Given the description of an element on the screen output the (x, y) to click on. 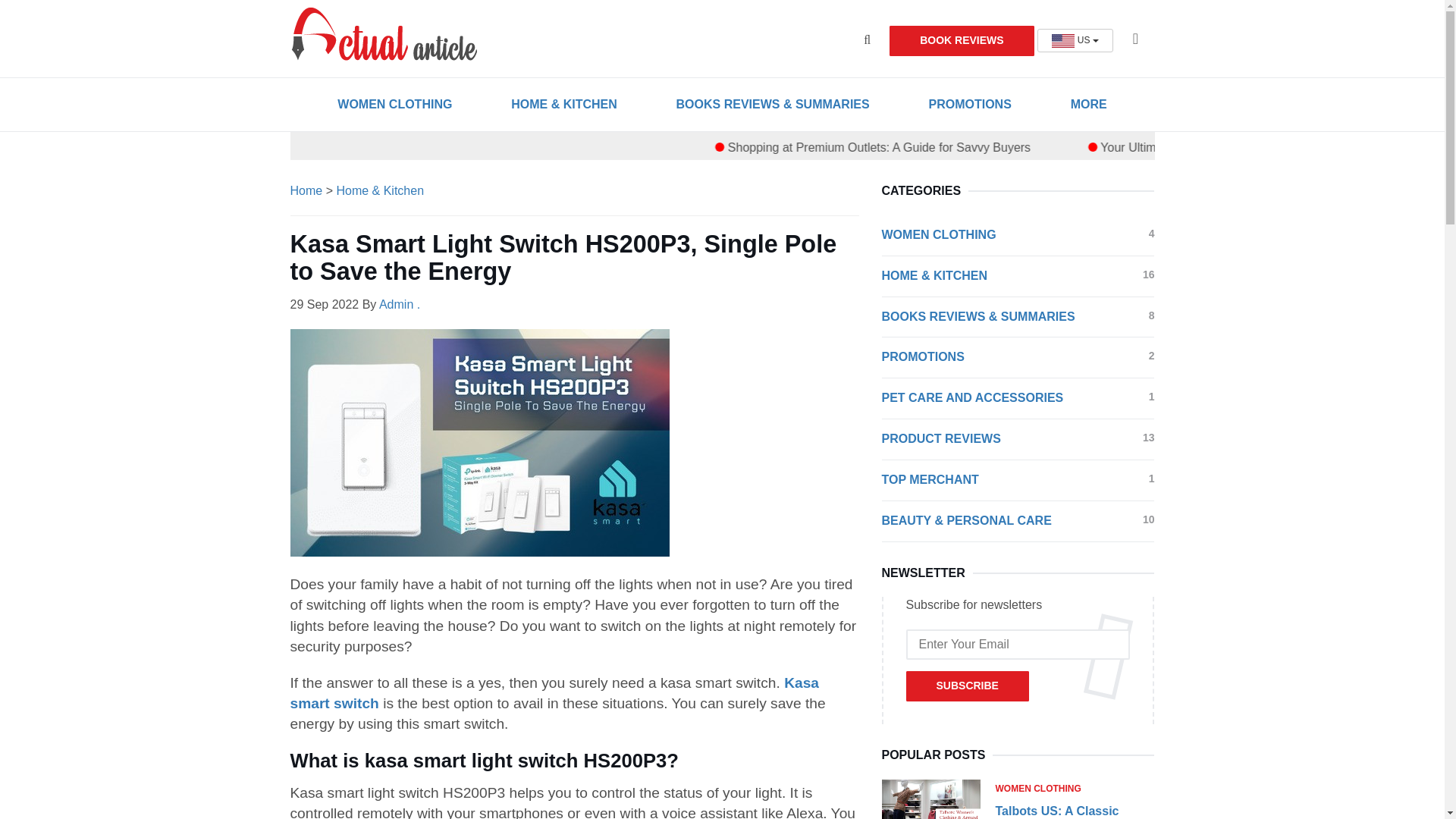
WOMEN CLOTHING (394, 104)
US (1074, 40)
PROMOTIONS (969, 104)
MORE (1088, 104)
BOOK REVIEWS (961, 40)
